Given the description of an element on the screen output the (x, y) to click on. 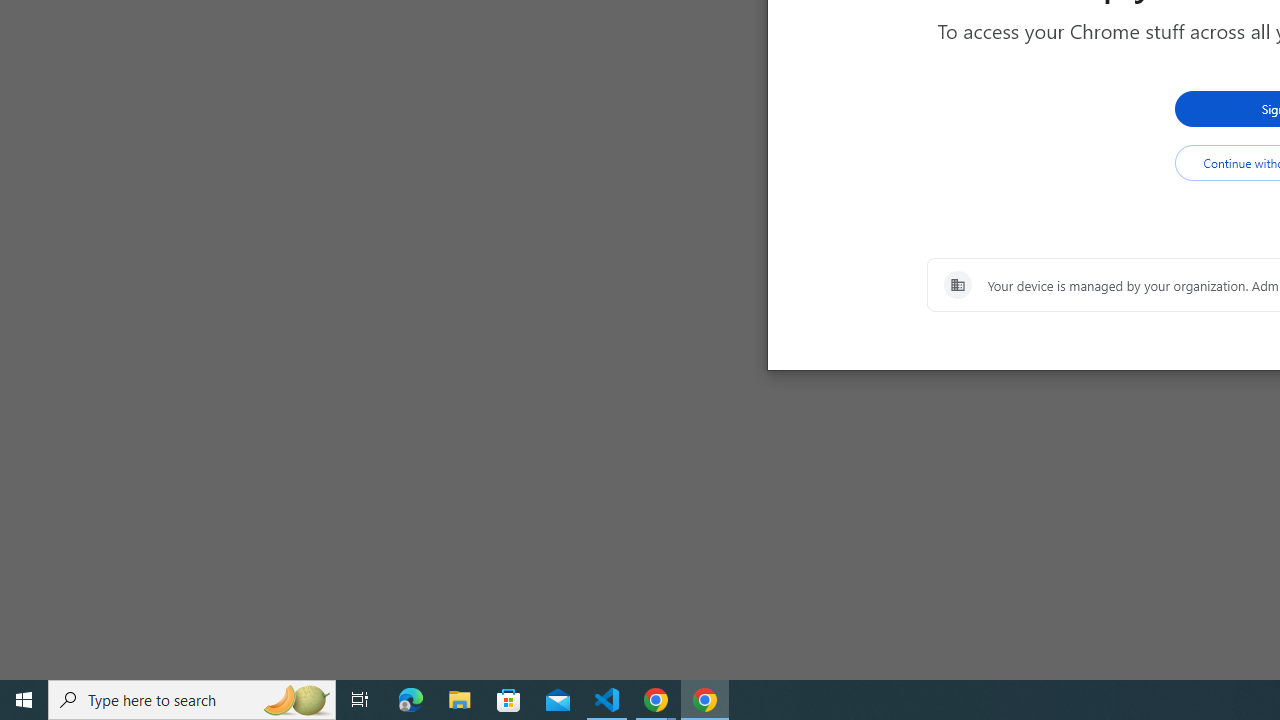
Microsoft Store (509, 699)
Google Chrome - 1 running window (704, 699)
Task View (359, 699)
Microsoft Edge (411, 699)
Search highlights icon opens search home window (295, 699)
Google Chrome - 2 running windows (656, 699)
File Explorer (460, 699)
Visual Studio Code - 1 running window (607, 699)
Type here to search (191, 699)
Start (24, 699)
